Given the description of an element on the screen output the (x, y) to click on. 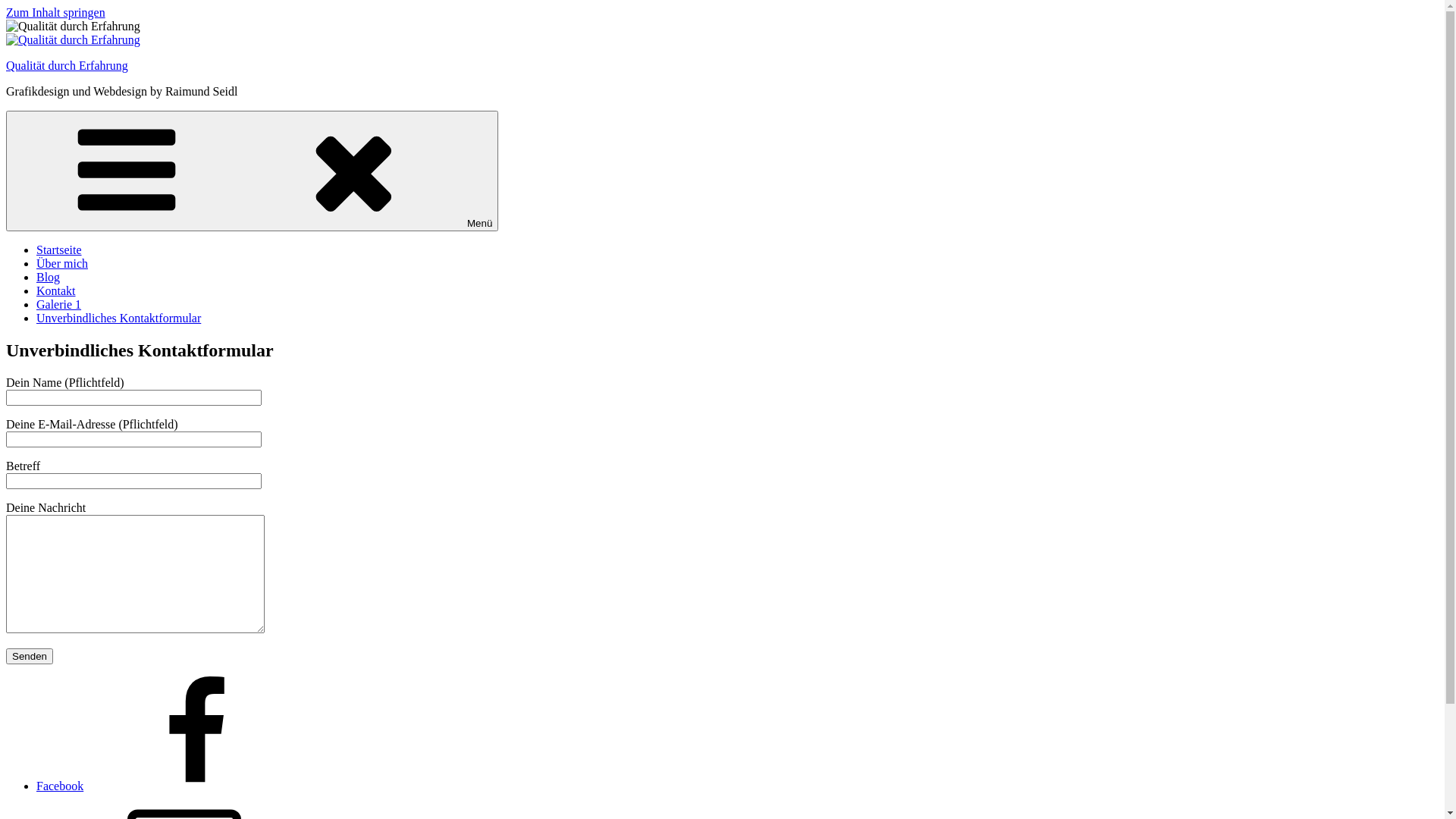
Facebook Element type: text (173, 785)
Unverbindliches Kontaktformular Element type: text (118, 317)
Blog Element type: text (47, 276)
Kontakt Element type: text (55, 290)
Senden Element type: text (29, 656)
Galerie 1 Element type: text (58, 304)
Startseite Element type: text (58, 249)
Zum Inhalt springen Element type: text (55, 12)
